Given the description of an element on the screen output the (x, y) to click on. 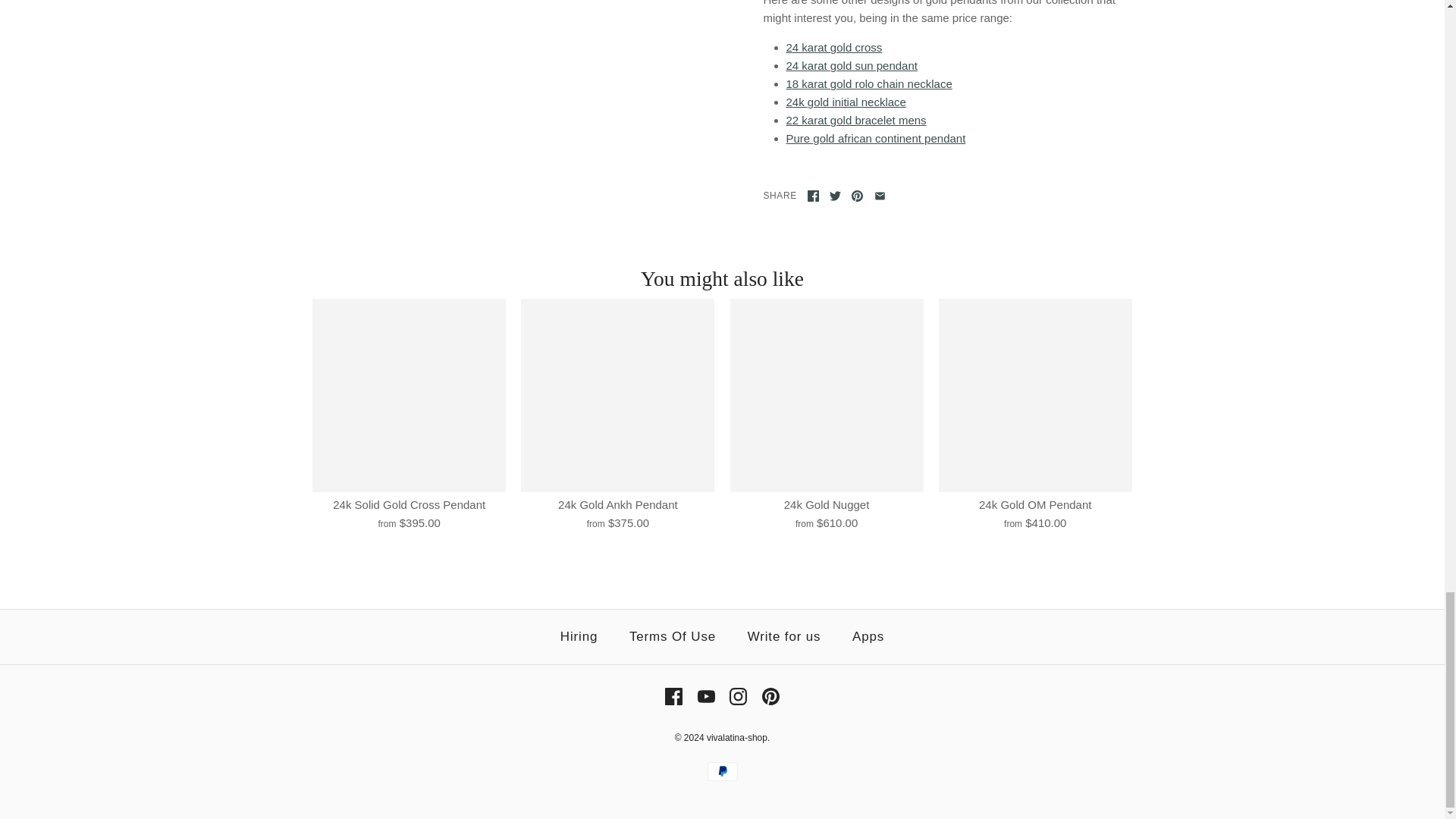
Share on Facebook (813, 195)
PayPal (721, 771)
Instagram (737, 696)
Email (880, 195)
Facebook (813, 195)
Share using email (880, 195)
Facebook (673, 696)
Youtube (705, 696)
Twitter (835, 195)
Share on Twitter (835, 195)
